Given the description of an element on the screen output the (x, y) to click on. 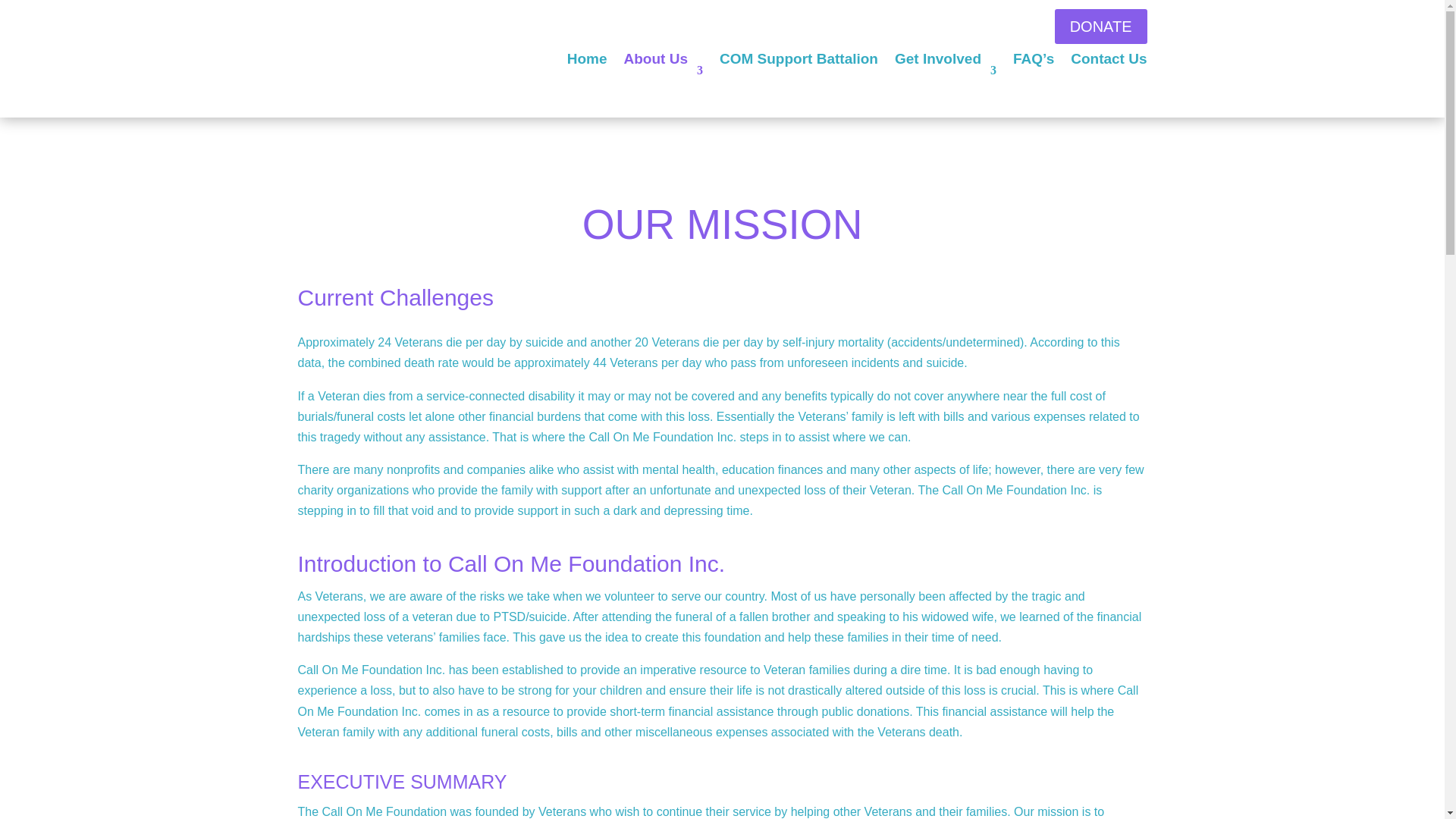
COM Support Battalion (798, 70)
DONATE (1100, 26)
Get Involved (945, 70)
